Given the description of an element on the screen output the (x, y) to click on. 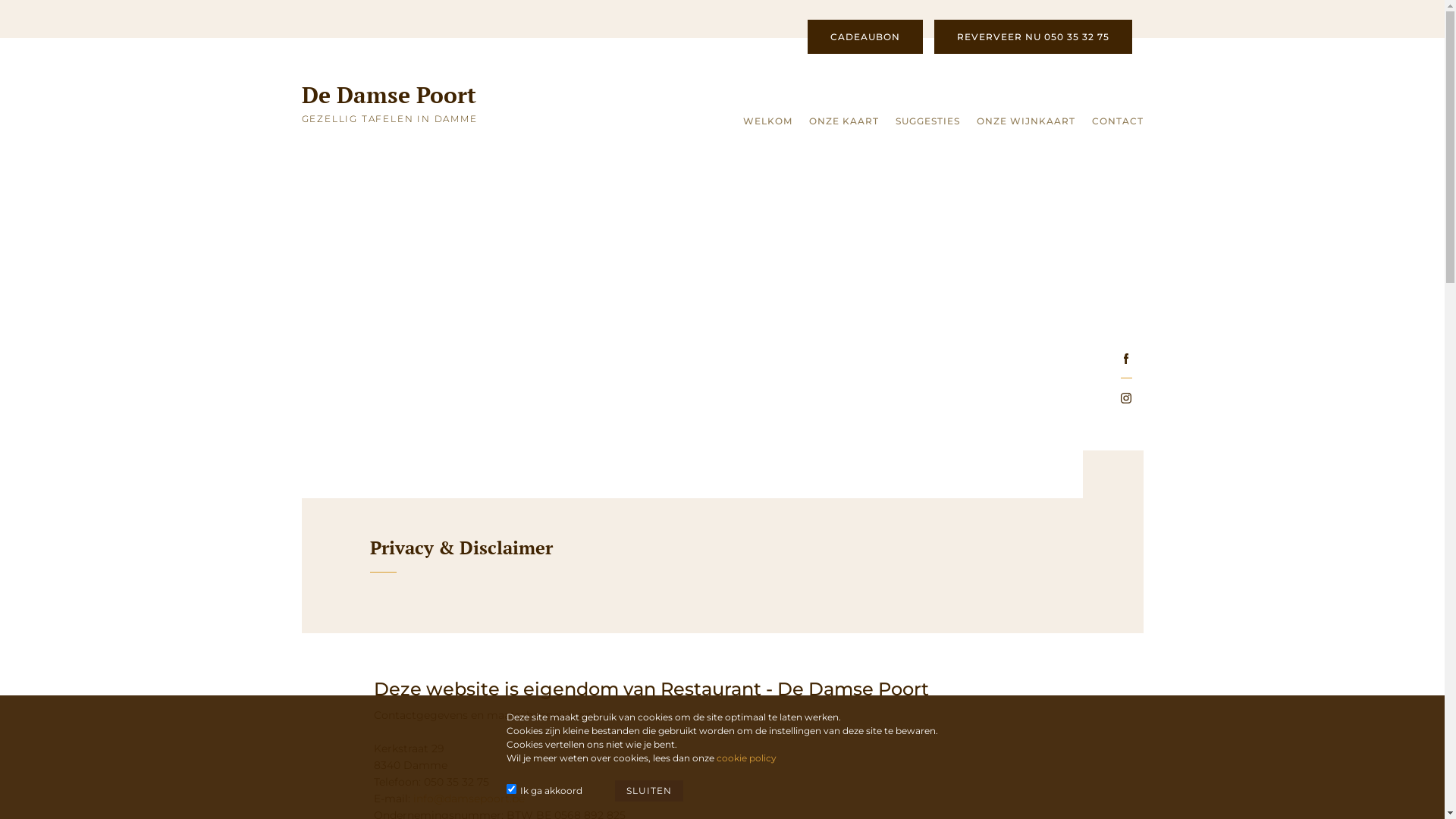
ONZE WIJNKAART Element type: text (1025, 124)
REVERVEER NU 050 35 32 75 Element type: text (1033, 36)
CONTACT Element type: text (1117, 124)
cookie policy Element type: text (746, 757)
De Damse Poort
GEZELLIG TAFELEN IN DAMME Element type: text (398, 106)
CADEAUBON Element type: text (864, 36)
Sluiten Element type: text (649, 790)
SUGGESTIES Element type: text (926, 124)
ONZE KAART Element type: text (843, 124)
info@damsepoort.be Element type: text (466, 798)
WELKOM Element type: text (767, 124)
